Given the description of an element on the screen output the (x, y) to click on. 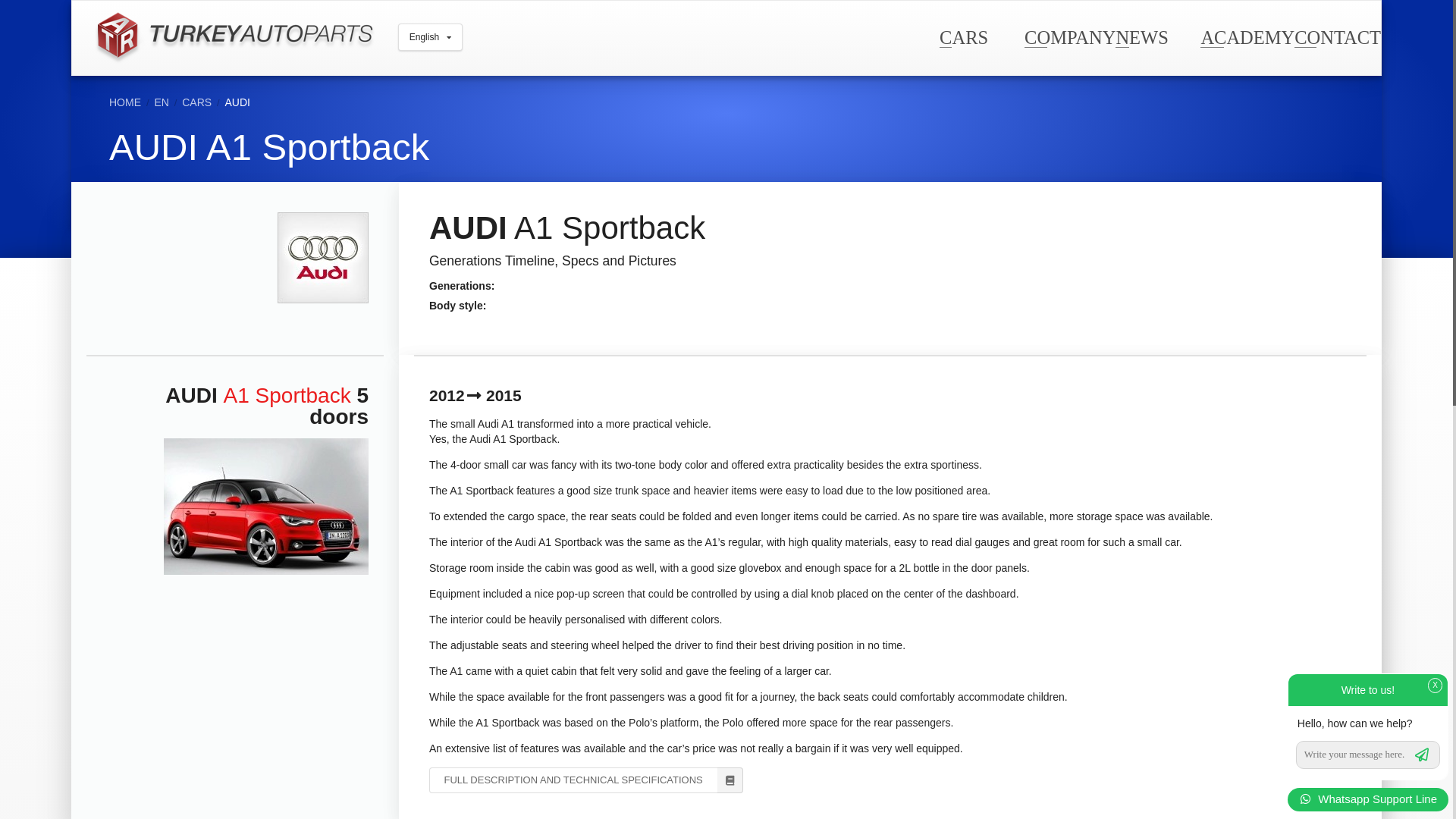
CARS (963, 37)
FULL DESCRIPTION AND TECHNICAL SPECIFICATIONS (585, 779)
AUDI (237, 102)
CONTACT (1337, 37)
NEWS (1141, 37)
CARS (196, 102)
ACADEMY (1246, 37)
EN (161, 102)
HOME (125, 102)
COMPANY (1070, 37)
